Given the description of an element on the screen output the (x, y) to click on. 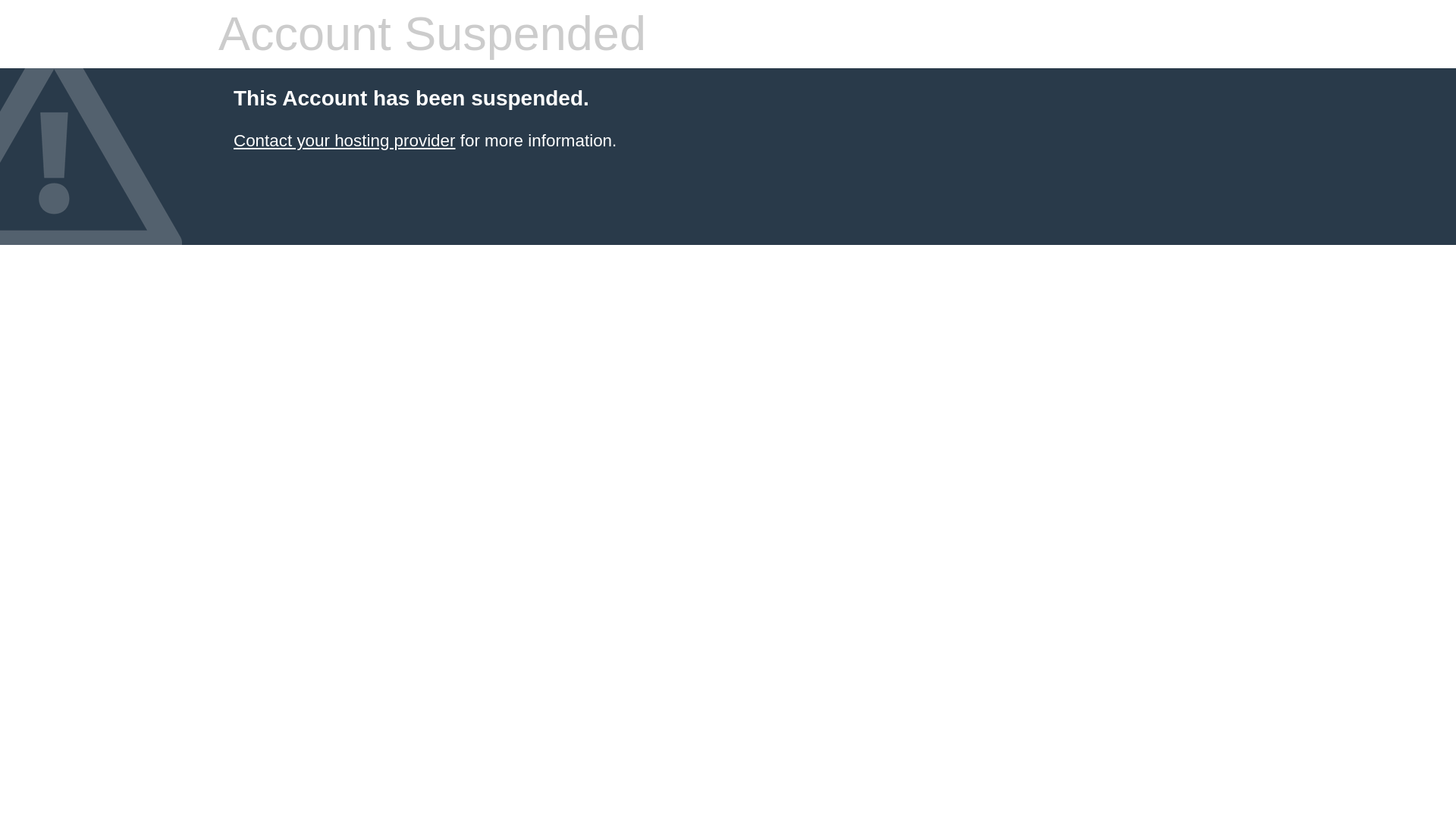
Contact your hosting provider (343, 140)
